Given the description of an element on the screen output the (x, y) to click on. 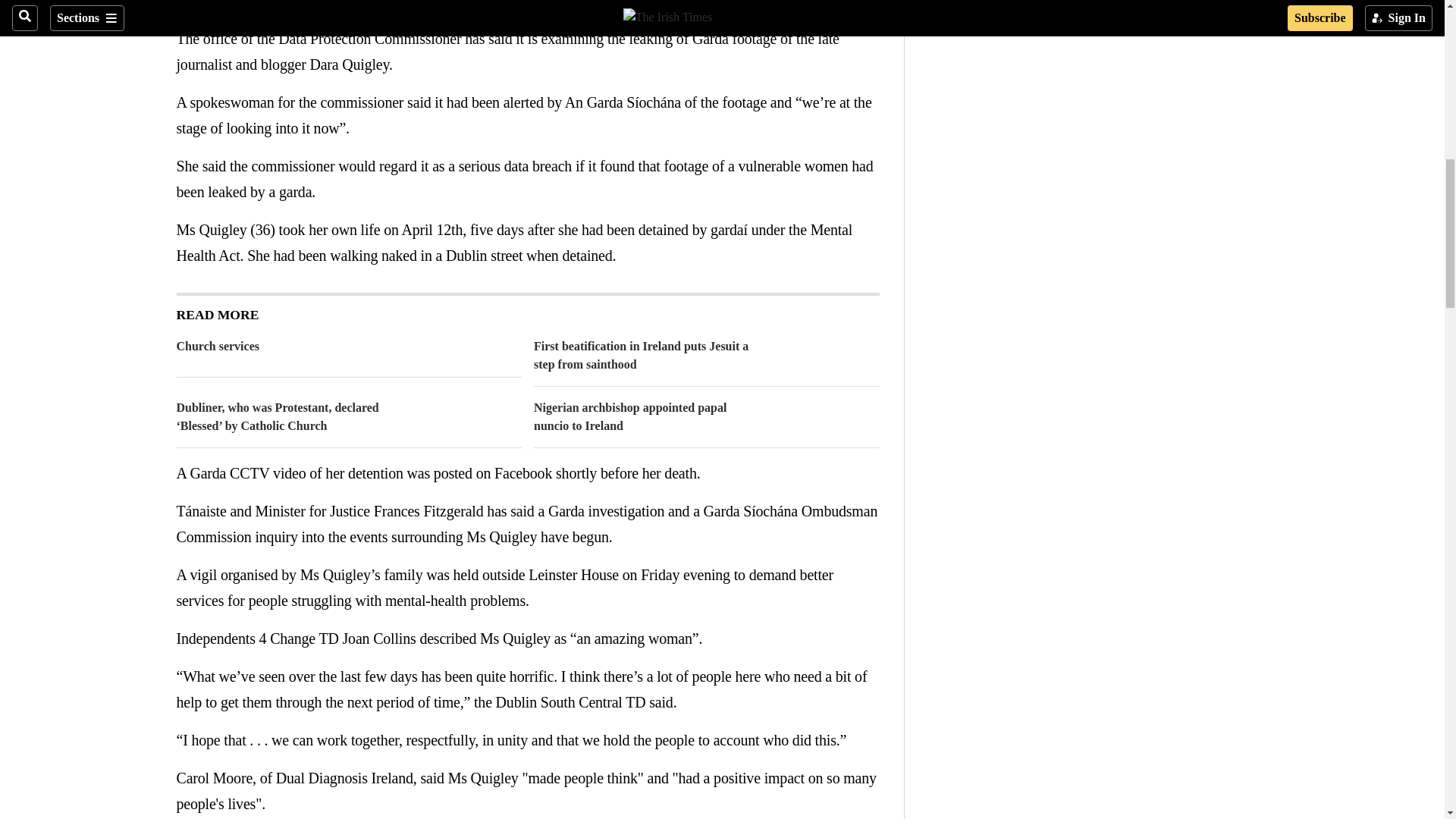
X (215, 6)
WhatsApp (244, 6)
Facebook (184, 6)
